Given the description of an element on the screen output the (x, y) to click on. 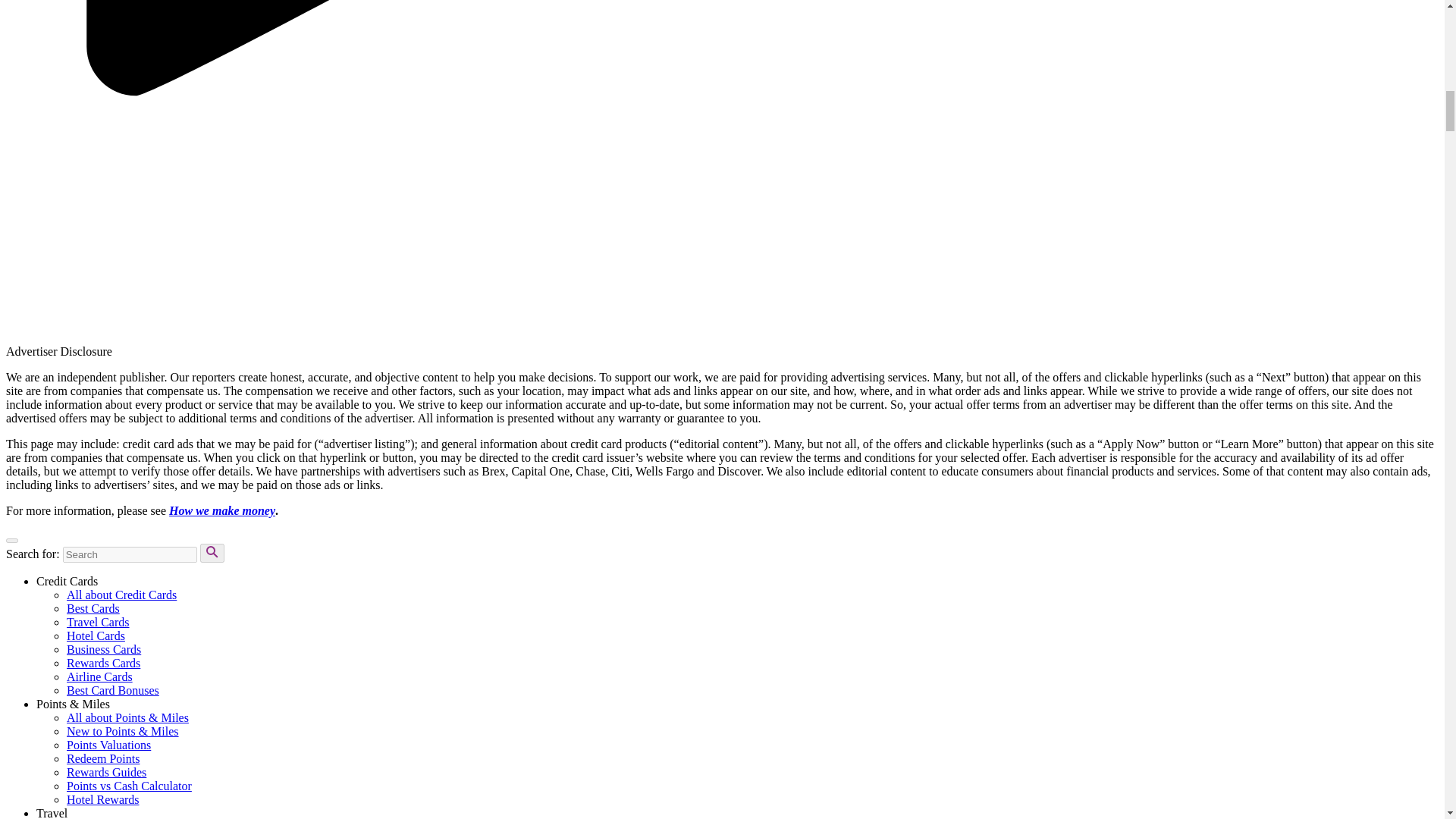
Points vs Cash Calculator (129, 785)
Airline Cards (99, 676)
Hotel Rewards (102, 799)
Hotel Cards (95, 635)
Business Cards (103, 649)
Best Card Bonuses (112, 689)
Rewards Guides (106, 771)
Rewards Cards (102, 662)
How we make money (221, 510)
Points Valuations (108, 744)
Best Cards (92, 608)
Travel Cards (97, 621)
Search (212, 552)
Redeem Points (102, 758)
All about Credit Cards (121, 594)
